Given the description of an element on the screen output the (x, y) to click on. 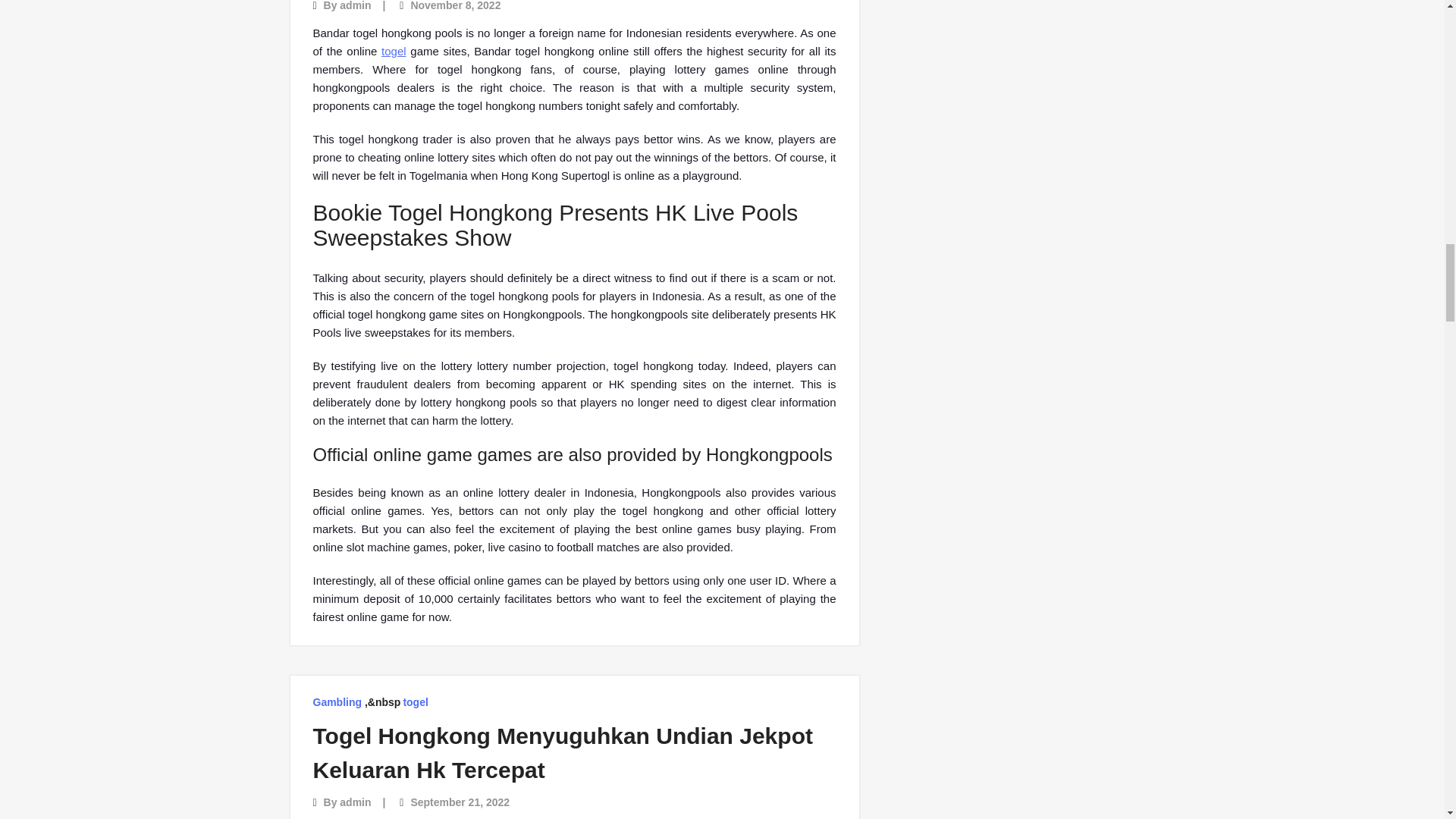
Gambling (337, 702)
togel (393, 51)
admin (355, 5)
admin (355, 802)
September 21, 2022 (459, 802)
November 8, 2022 (455, 5)
togel (415, 702)
